Given the description of an element on the screen output the (x, y) to click on. 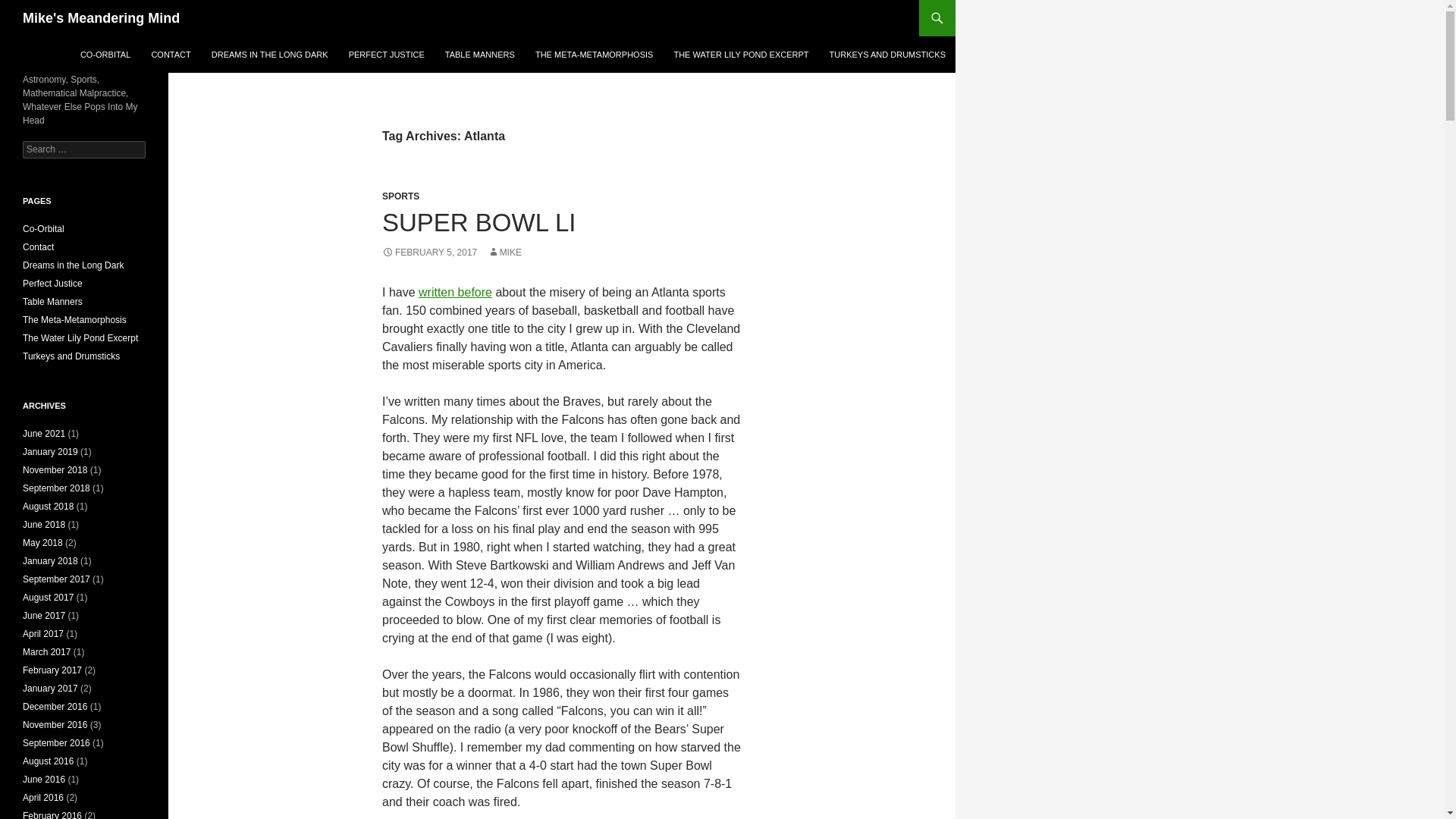
Mike's Meandering Mind (101, 18)
MIKE (504, 252)
TURKEYS AND DRUMSTICKS (888, 54)
FEBRUARY 5, 2017 (429, 252)
THE META-METAMORPHOSIS (593, 54)
CONTACT (170, 54)
DREAMS IN THE LONG DARK (269, 54)
THE WATER LILY POND EXCERPT (739, 54)
